Given the description of an element on the screen output the (x, y) to click on. 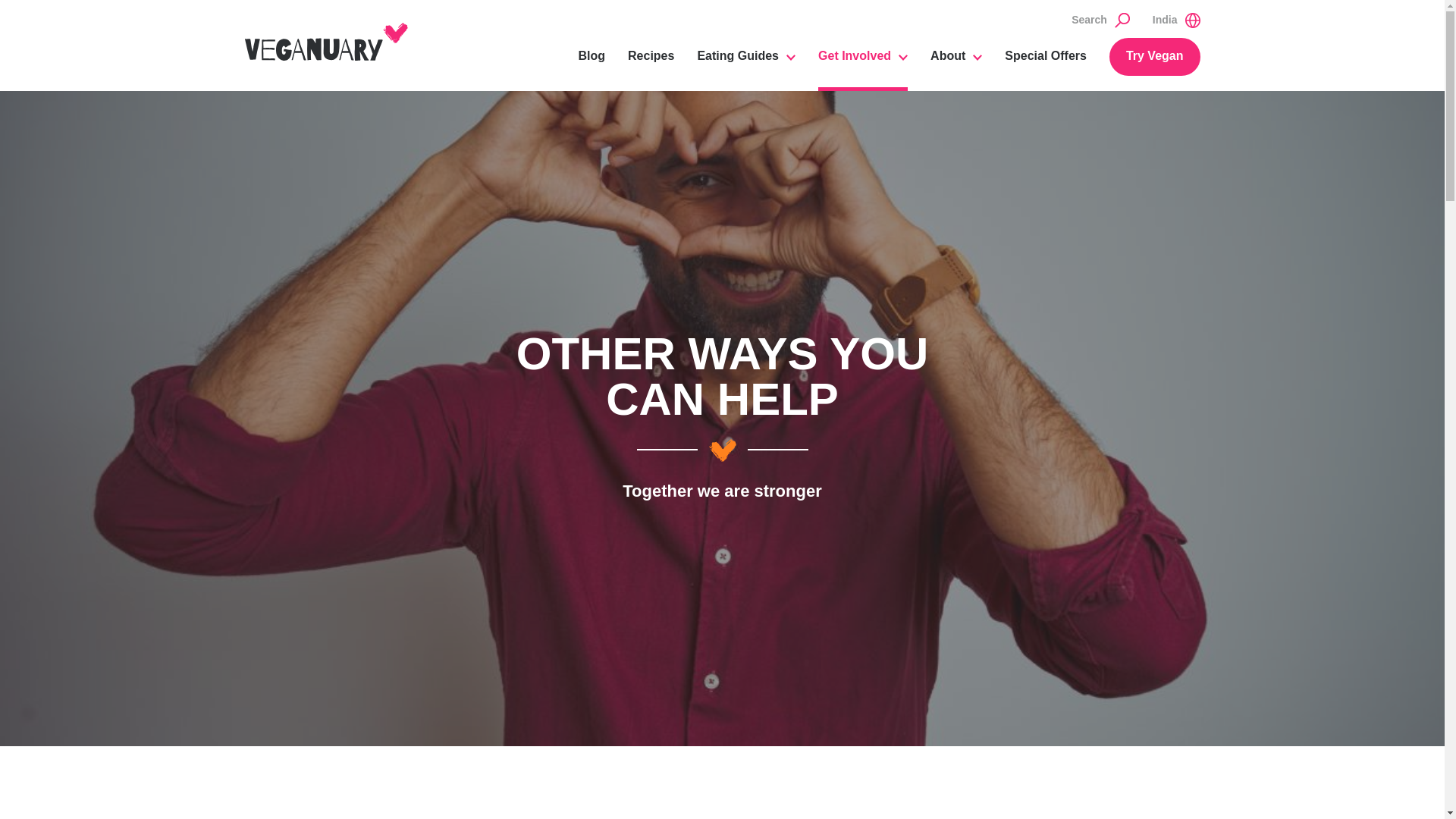
India (1176, 20)
About (955, 63)
Eating Guides (745, 63)
Try Vegan (1154, 56)
Get Involved (862, 63)
